Given the description of an element on the screen output the (x, y) to click on. 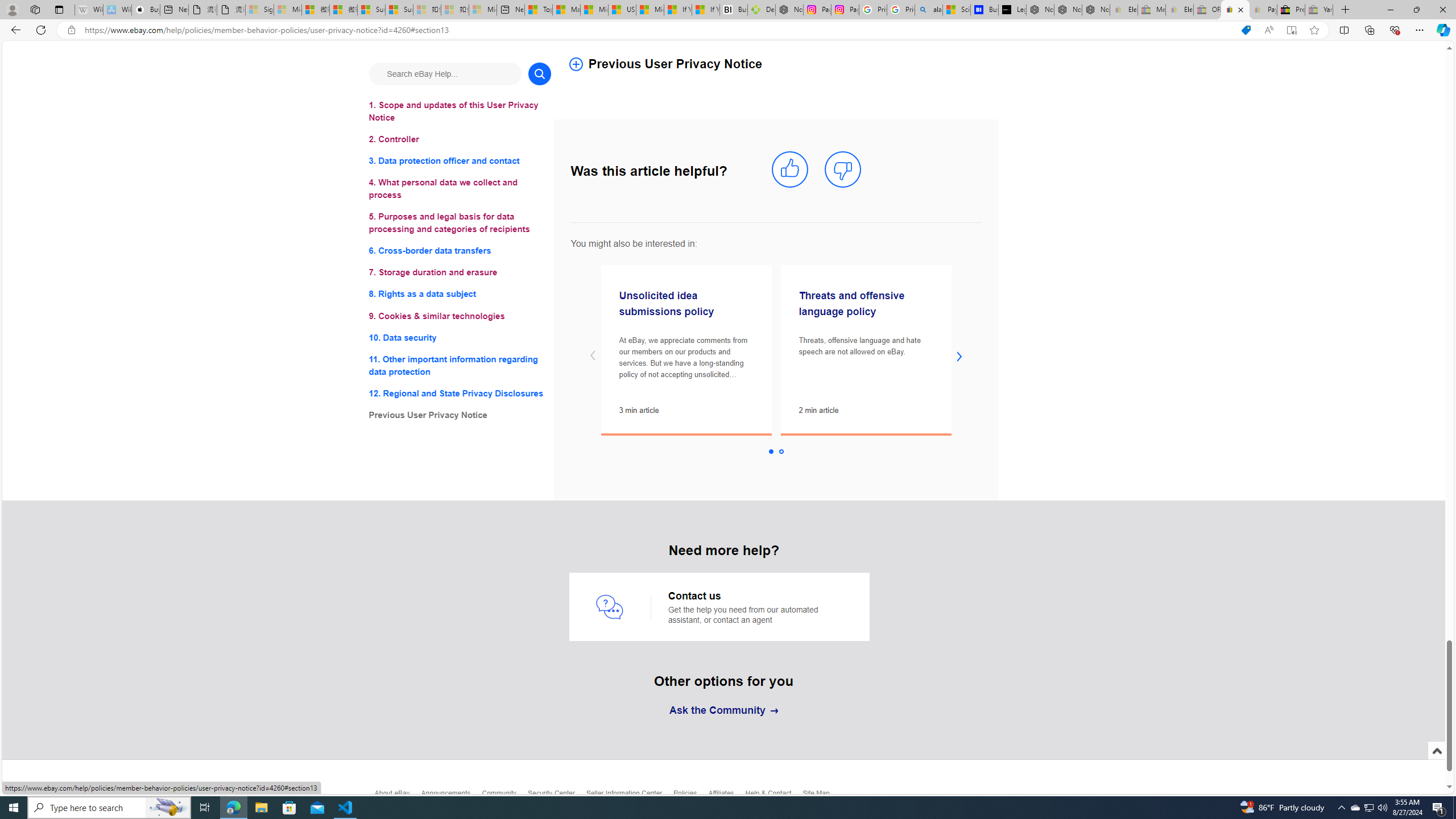
About eBay (397, 796)
Community (504, 796)
8. Rights as a data subject (459, 293)
US Heat Deaths Soared To Record High Last Year (621, 9)
Yard, Garden & Outdoor Living - Sleeping (1319, 9)
